Given the description of an element on the screen output the (x, y) to click on. 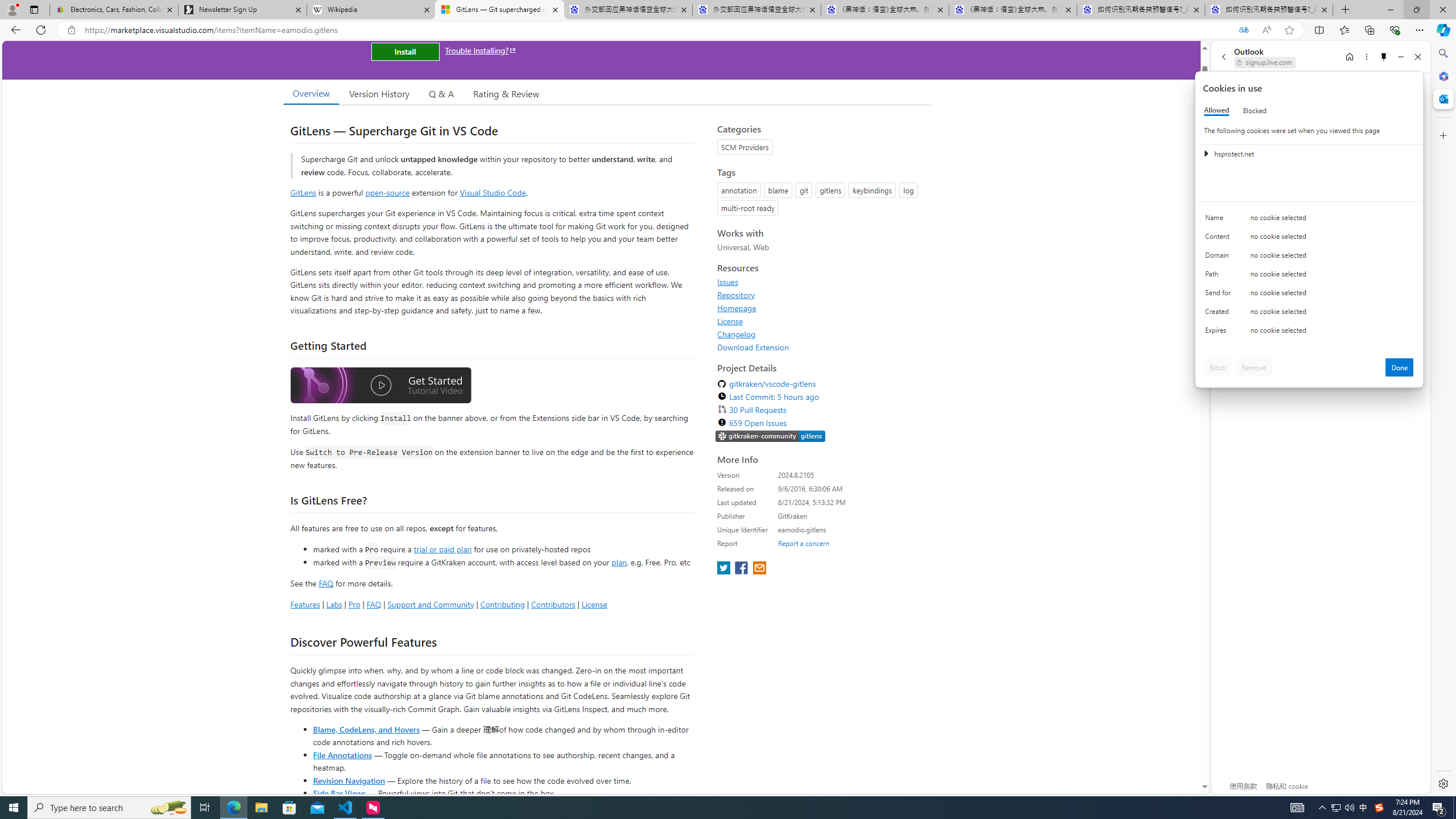
Version History (379, 92)
License (729, 320)
Block (1217, 367)
Q & A (441, 92)
Repository (820, 294)
Content (1219, 239)
Download Extension (753, 346)
